Given the description of an element on the screen output the (x, y) to click on. 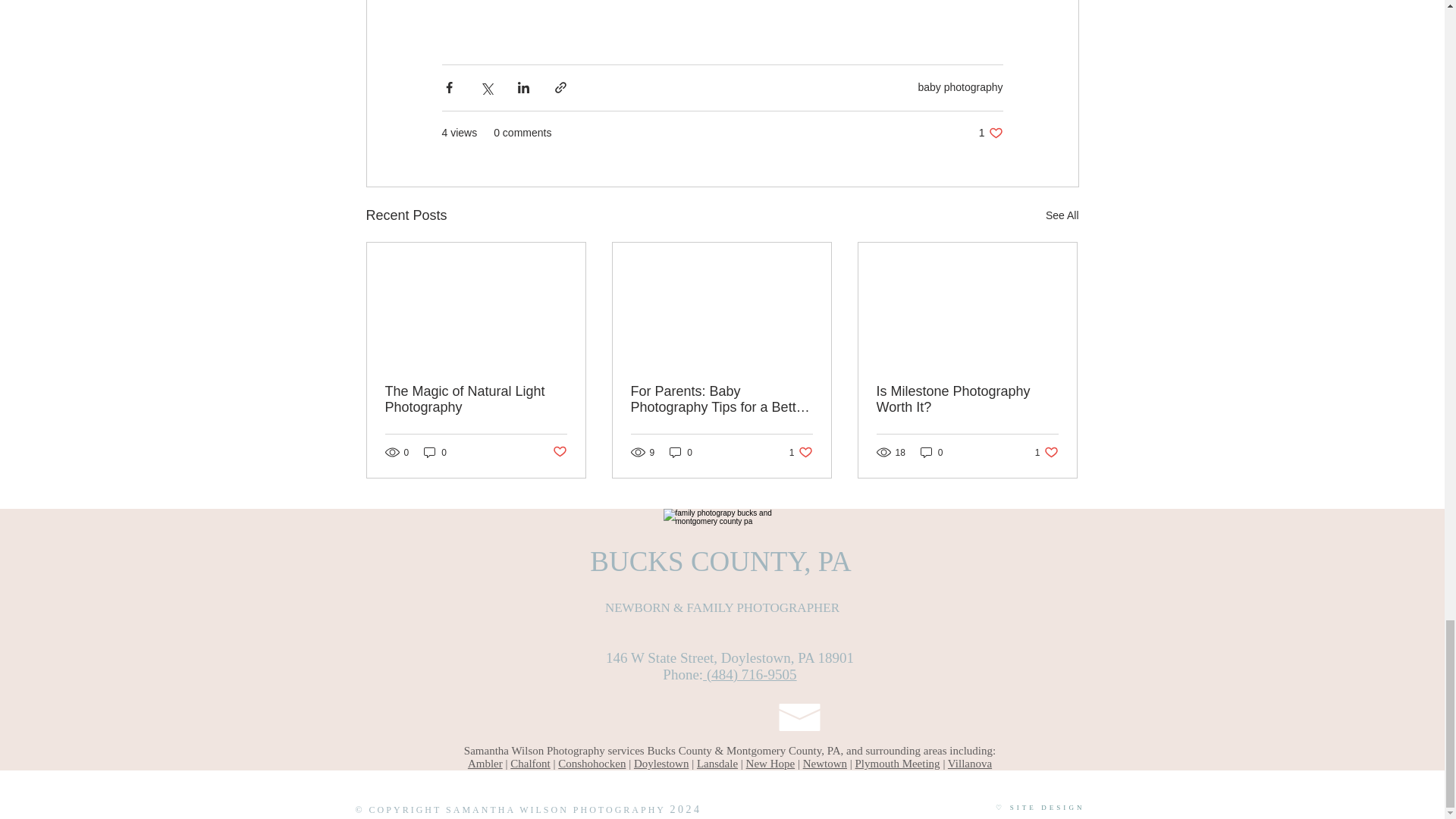
See All (1061, 215)
baby photography (990, 133)
